Given the description of an element on the screen output the (x, y) to click on. 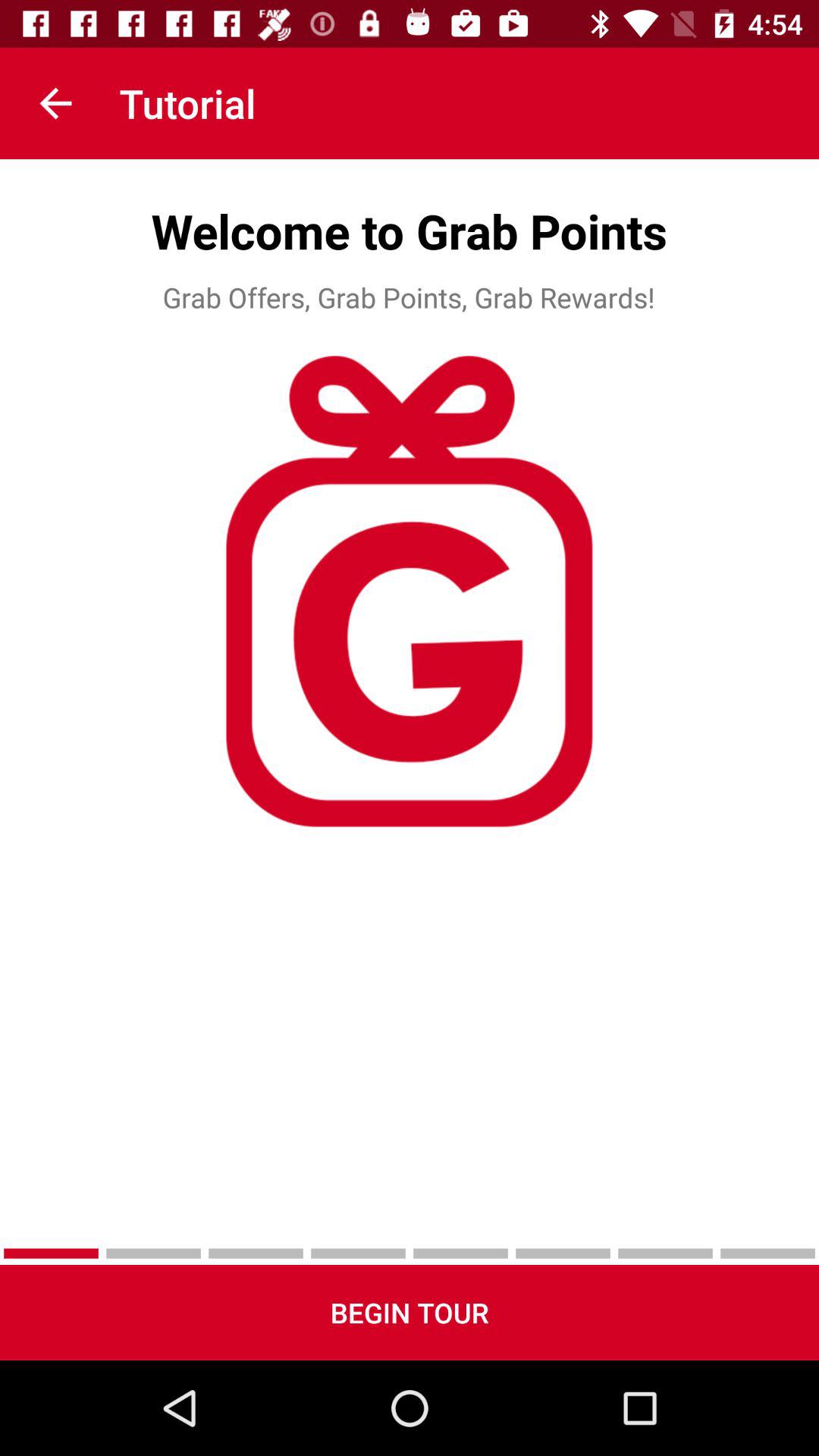
launch begin tour item (409, 1312)
